Given the description of an element on the screen output the (x, y) to click on. 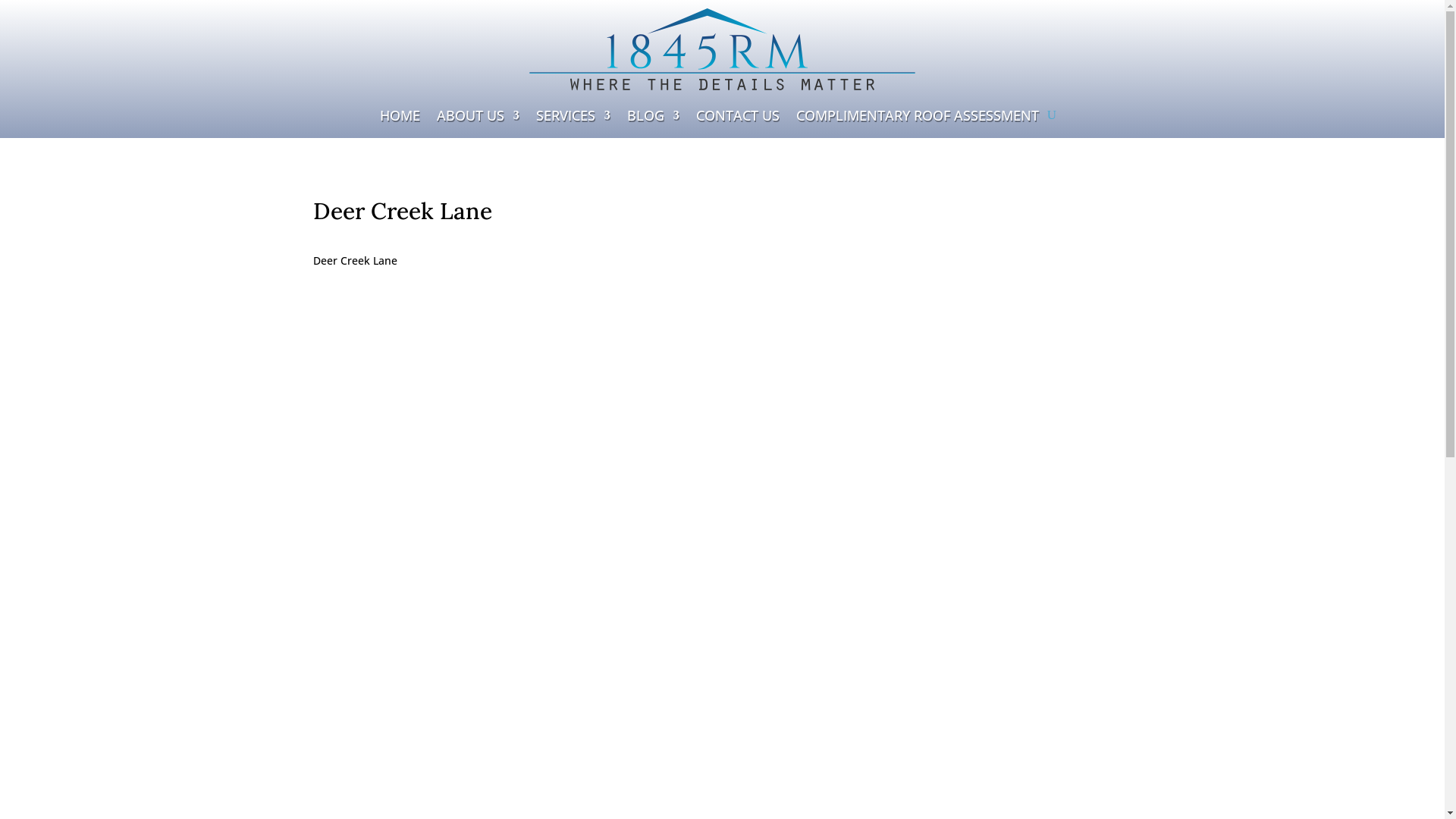
CONTACT US Element type: text (737, 117)
BLOG Element type: text (653, 117)
HOME Element type: text (399, 117)
COMPLIMENTARY ROOF ASSESSMENT Element type: text (917, 117)
1845RM - Deer Creek Lane, Hallsville TX Element type: hover (721, 522)
SERVICES Element type: text (573, 117)
ABOUT US Element type: text (477, 117)
